Given the description of an element on the screen output the (x, y) to click on. 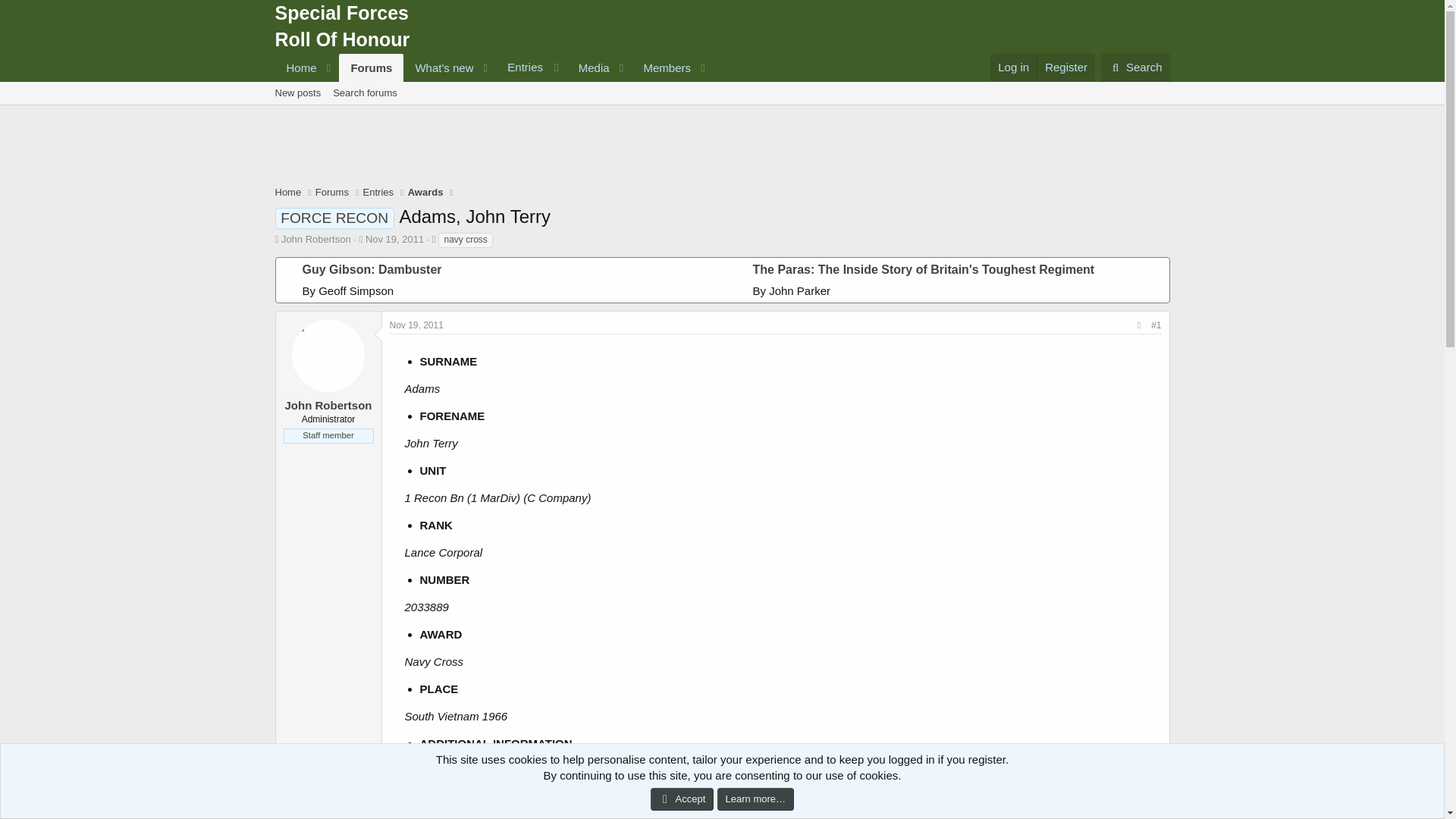
Search (1135, 67)
Nov 19, 2011 at 9:55 PM (394, 238)
Log in (1013, 67)
Members (662, 67)
Nov 19, 2011 at 9:55 PM (417, 325)
Media (589, 67)
What's new (493, 67)
Home (438, 67)
